Given the description of an element on the screen output the (x, y) to click on. 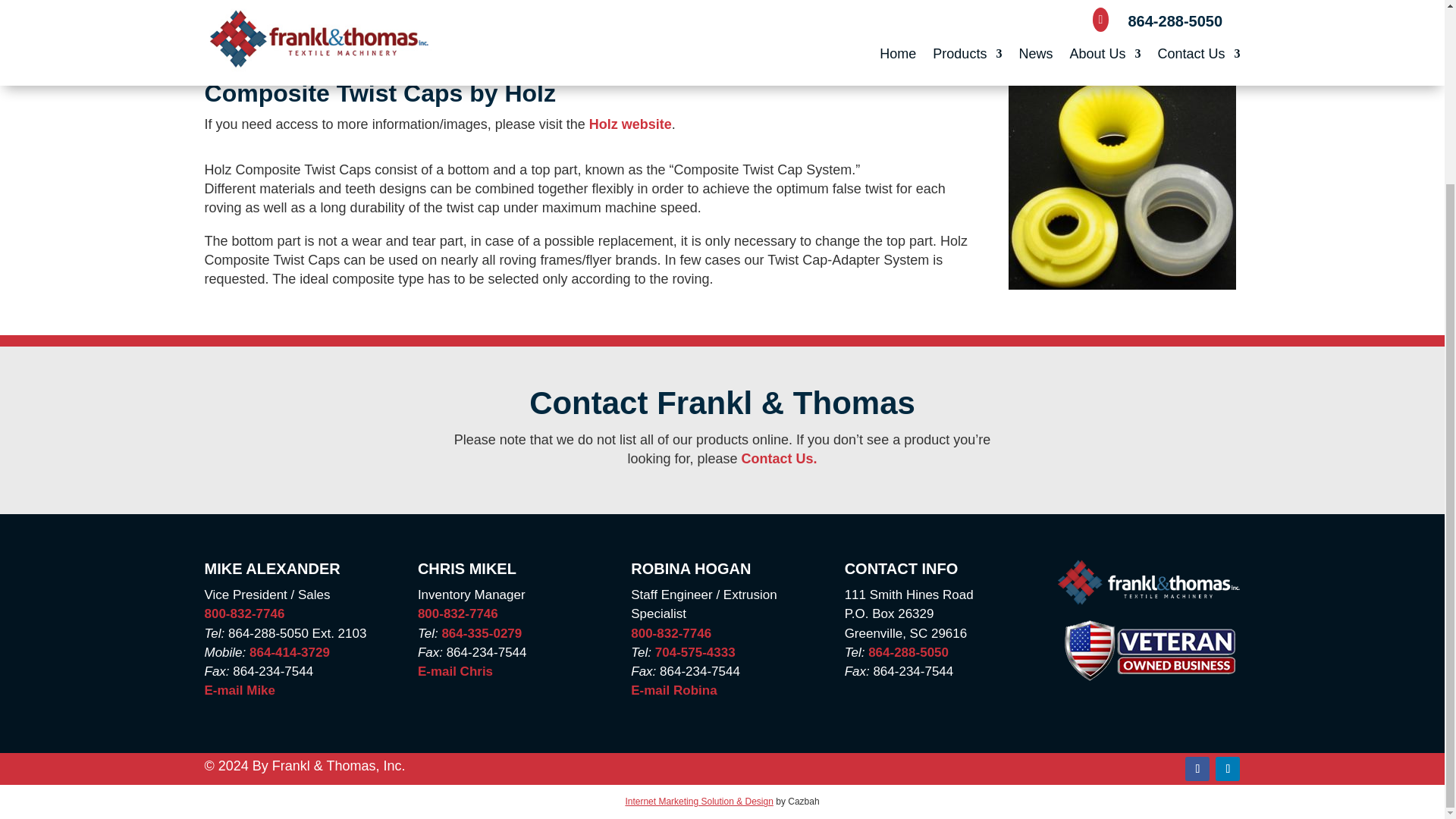
Holz website (630, 124)
864-414-3729 (289, 652)
logo (1149, 582)
Follow on LinkedIn (1227, 768)
Contact Us. (778, 458)
Veteran-Owned-Business (1148, 649)
800-832-7746 (245, 613)
Holz Composite Yellow twist caps (1122, 182)
Follow on Facebook (1197, 768)
